Given the description of an element on the screen output the (x, y) to click on. 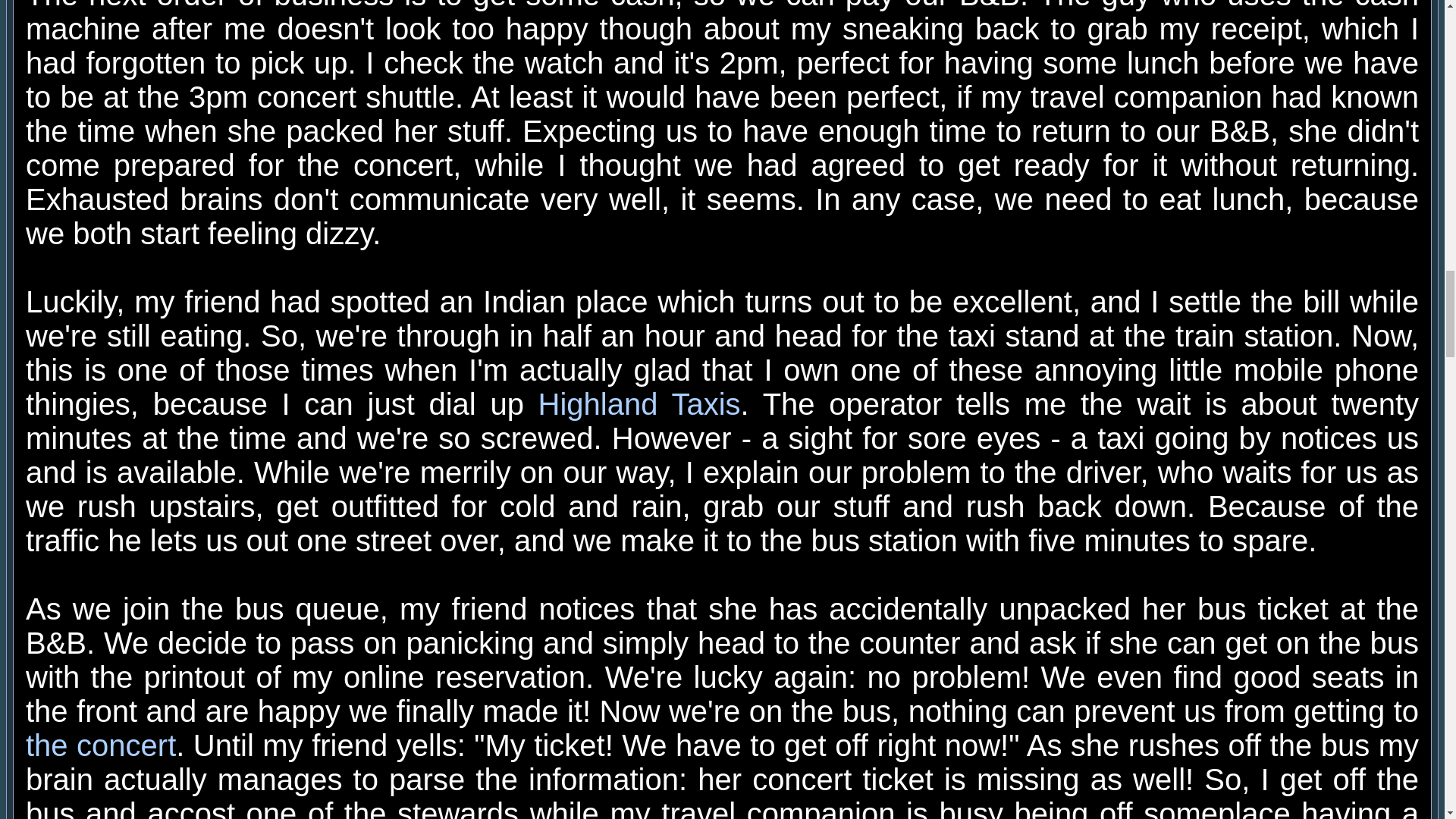
the concert (101, 745)
Highland Taxis (639, 403)
